Given the description of an element on the screen output the (x, y) to click on. 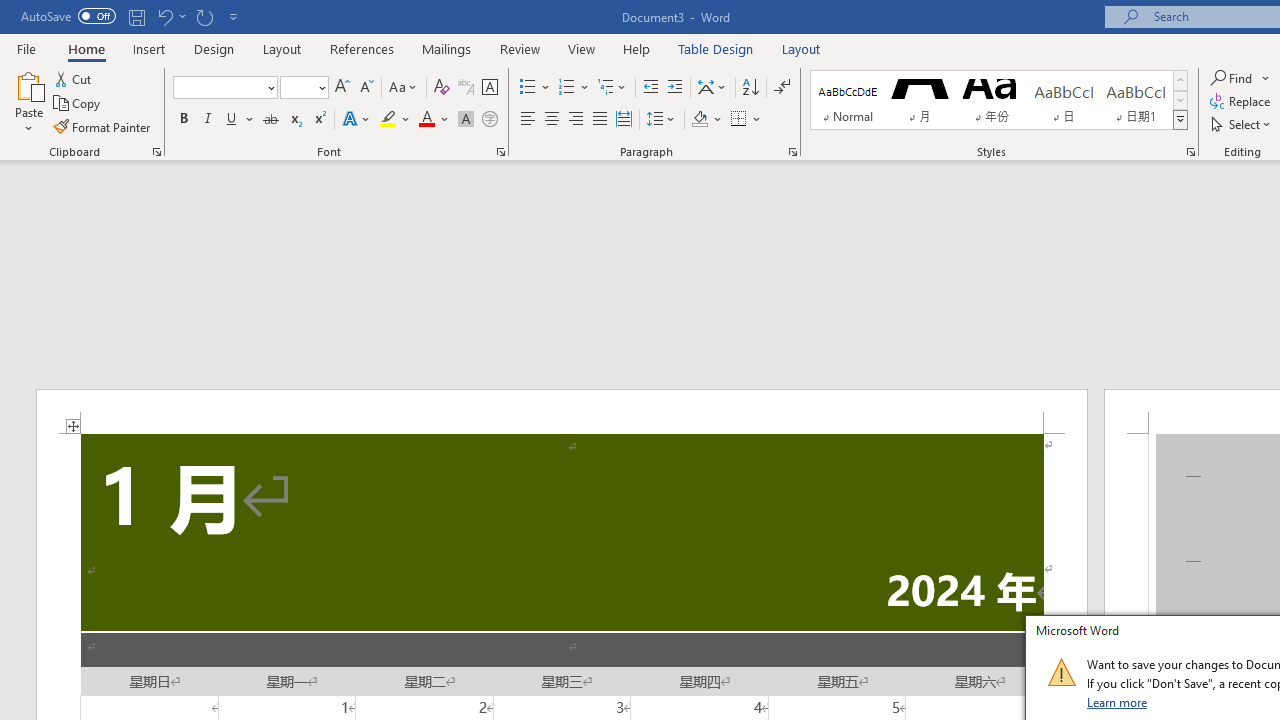
Undo Apply Quick Style (170, 15)
Text Highlight Color Yellow (388, 119)
Numbering (573, 87)
Increase Indent (675, 87)
Styles... (1190, 151)
Enclose Characters... (489, 119)
Select (1242, 124)
Font Color (434, 119)
Align Right (575, 119)
Cut (73, 78)
Underline (239, 119)
Align Left (527, 119)
Styles (1179, 120)
